Given the description of an element on the screen output the (x, y) to click on. 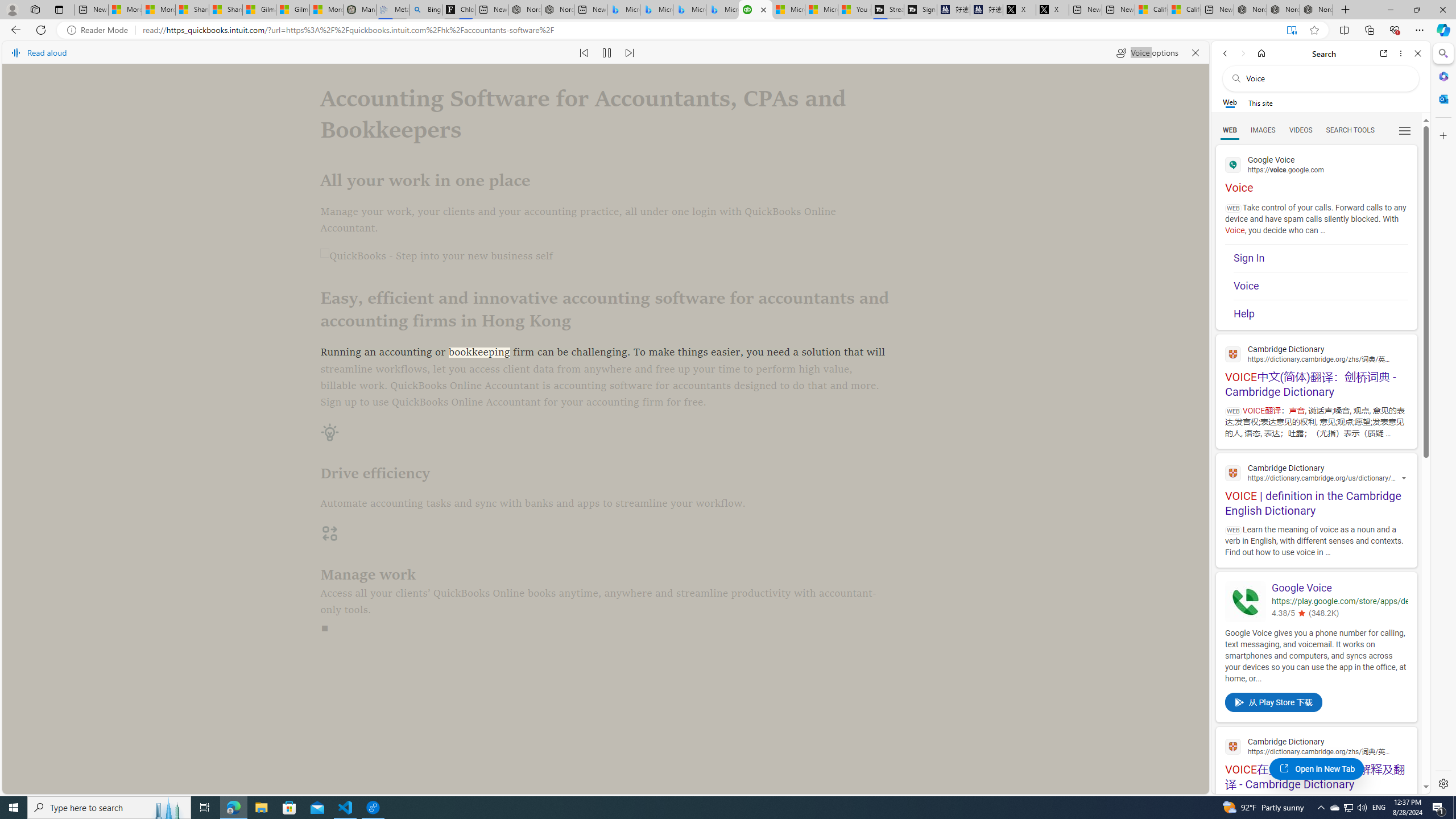
Google Voice (1339, 587)
Pause read aloud (Ctrl+Shift+U) (606, 52)
VOICE | definition in the Cambridge English Dictionary (1315, 488)
IMAGES (1262, 130)
Microsoft Start (821, 9)
Read next paragraph (628, 52)
